Given the description of an element on the screen output the (x, y) to click on. 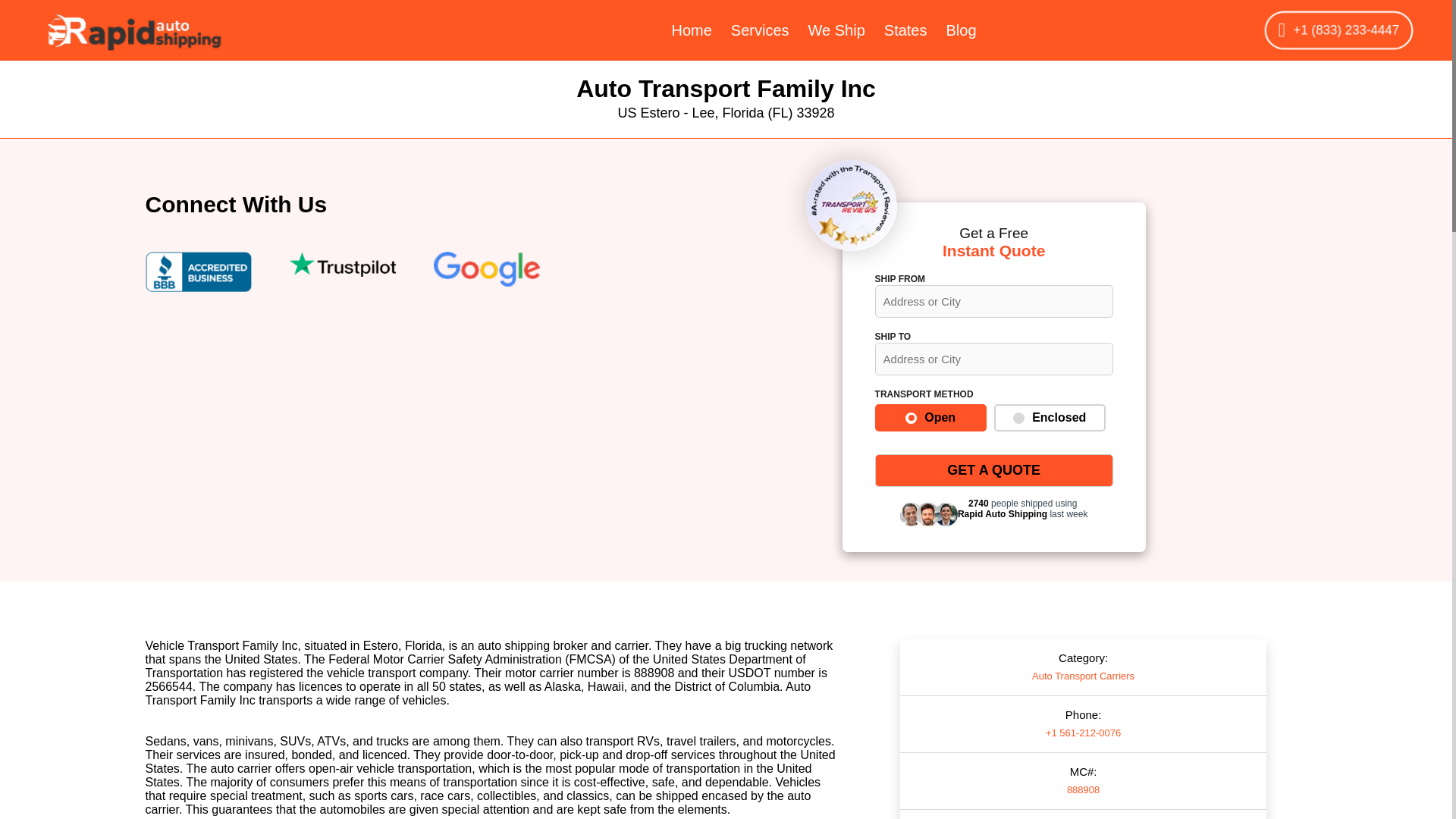
Services (759, 30)
Get A Quote (994, 470)
We Ship (836, 30)
